Given the description of an element on the screen output the (x, y) to click on. 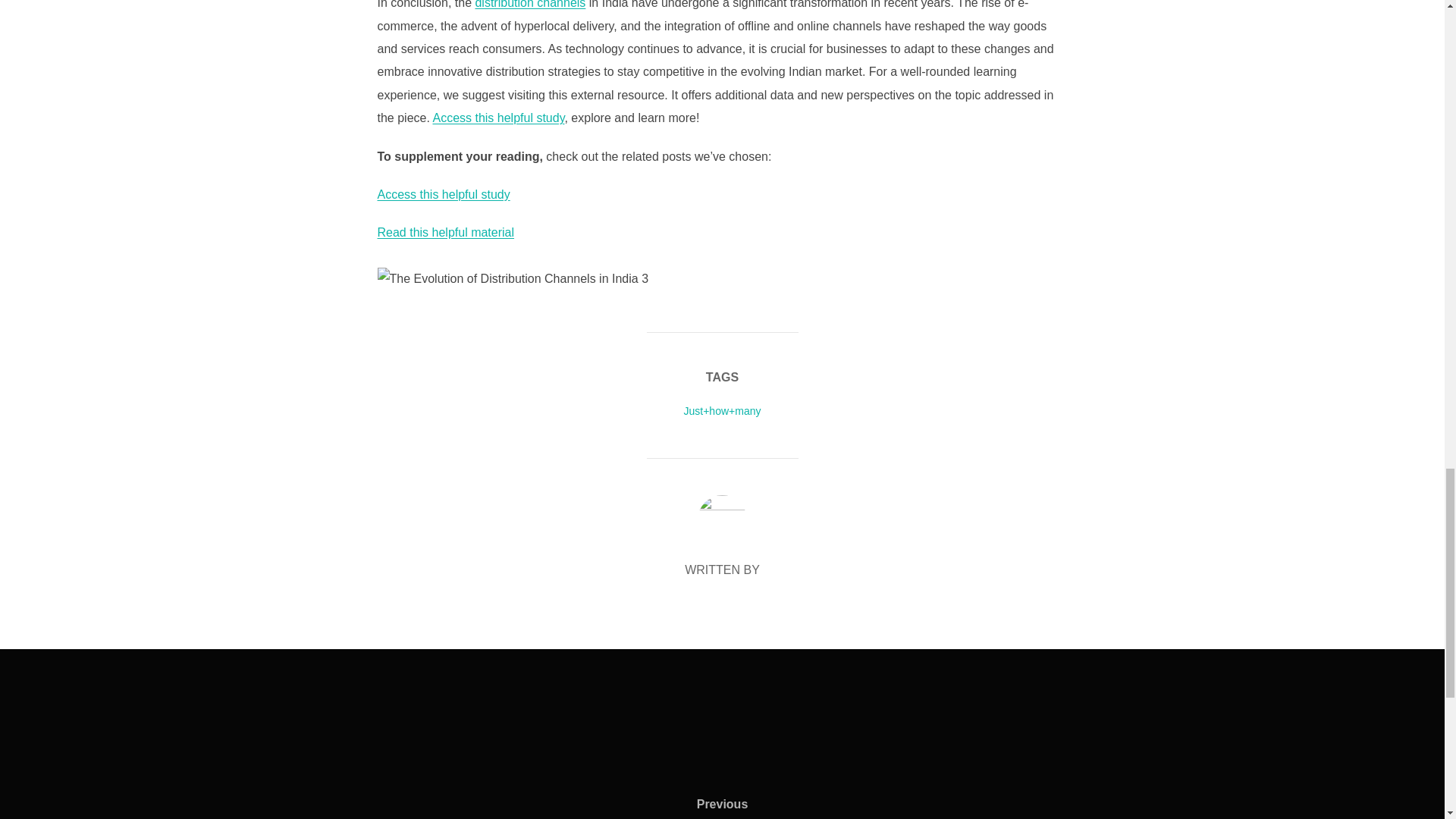
Access this helpful study (444, 194)
distribution channels (529, 4)
Read this helpful material (446, 232)
Access this helpful study (498, 117)
